Given the description of an element on the screen output the (x, y) to click on. 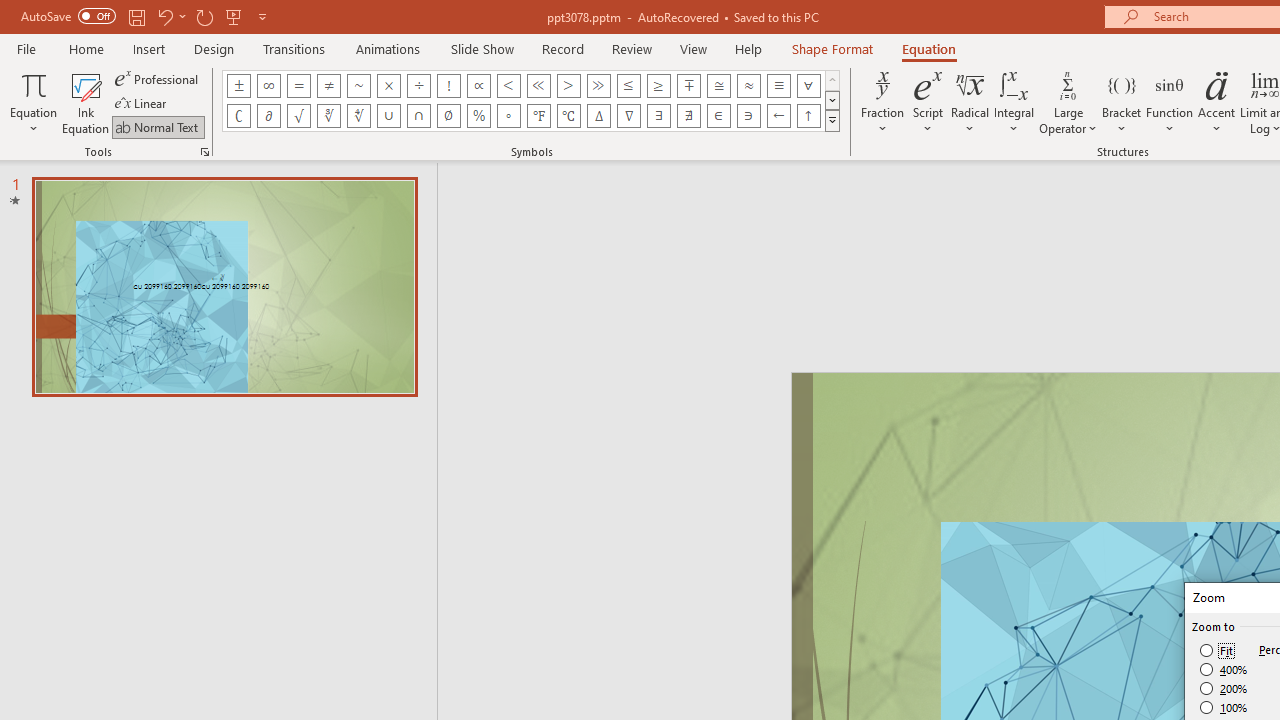
Equation Symbol Greater Than or Equal To (658, 85)
Function (1169, 102)
Fit (1217, 650)
Radical (970, 102)
Equation Symbol Less Than or Equal To (628, 85)
Equation Symbol Radical Sign (298, 115)
Equation Symbol Degrees (508, 115)
Equation Symbol Almost Equal To (Asymptotic To) (748, 85)
Professional (158, 78)
Equation Symbol Empty Set (448, 115)
